Given the description of an element on the screen output the (x, y) to click on. 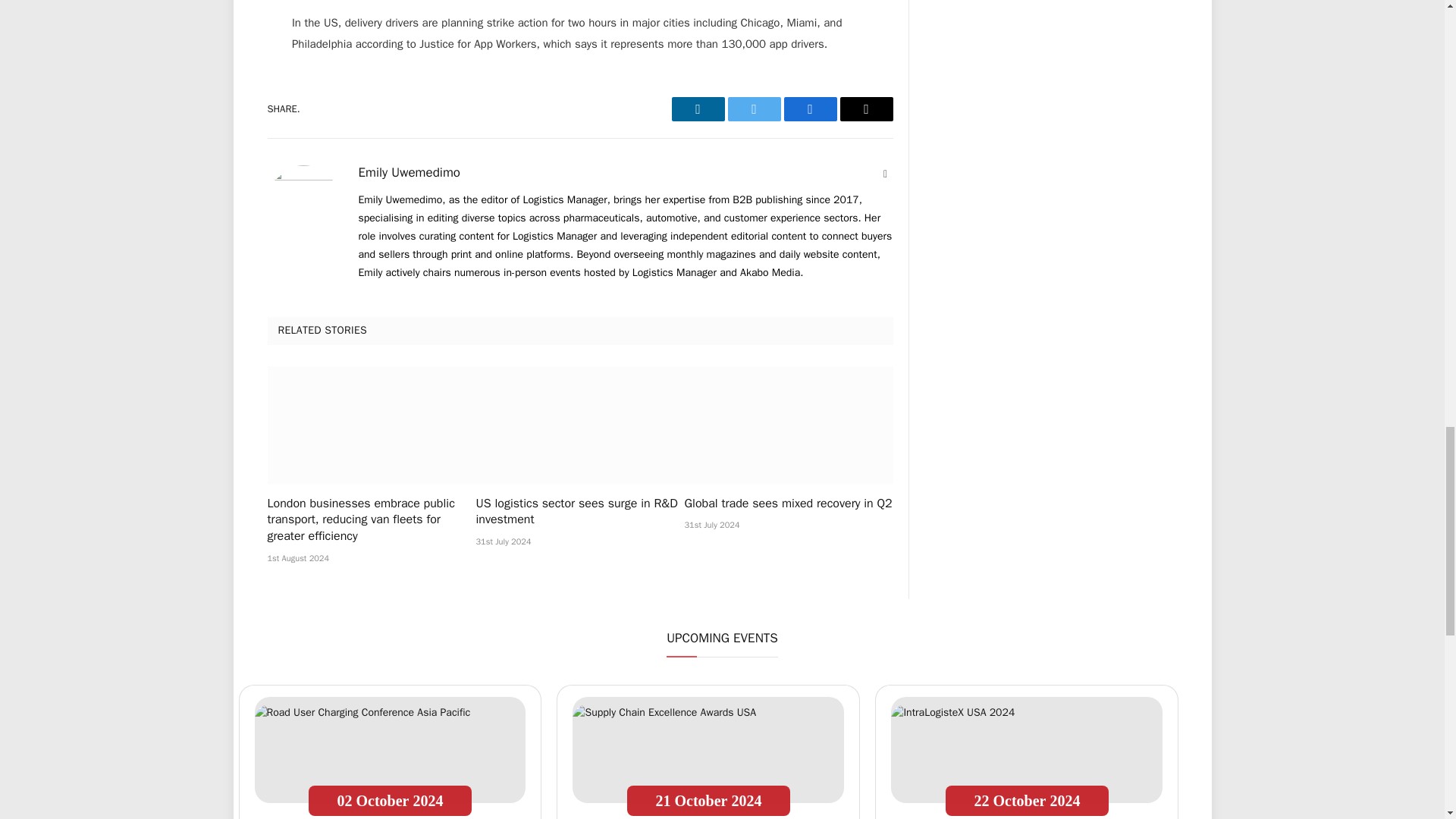
Share on LinkedIn (698, 109)
